Given the description of an element on the screen output the (x, y) to click on. 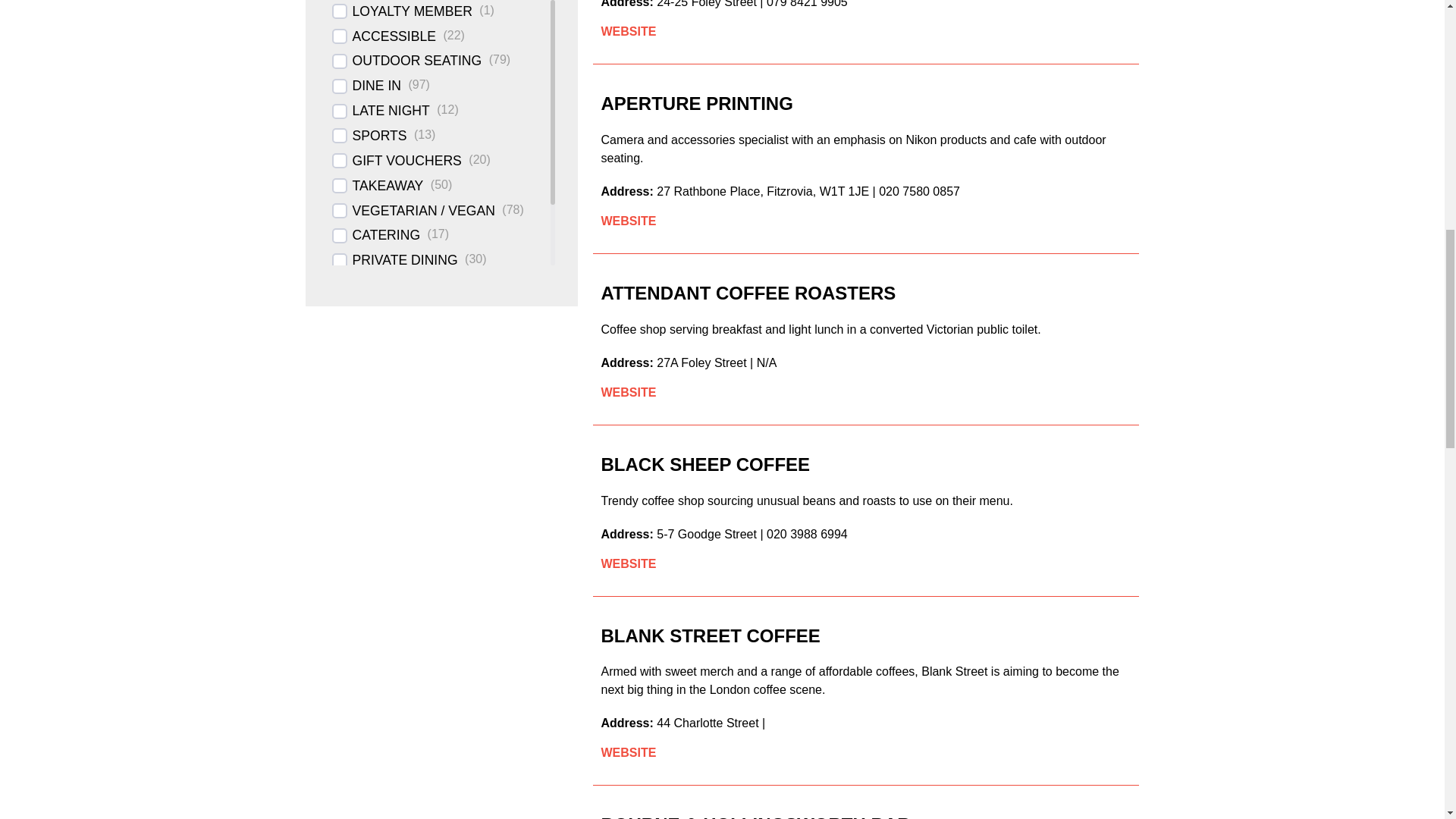
on (339, 210)
on (339, 61)
TAKEAWAY (387, 186)
on (339, 260)
on (339, 36)
27 Rathbone Place, Fitzrovia, W1T 1JE (762, 191)
DINE IN (376, 88)
FINE DINING (392, 327)
ACCESSIBLE (393, 39)
GIFT VOUCHERS (406, 161)
